Given the description of an element on the screen output the (x, y) to click on. 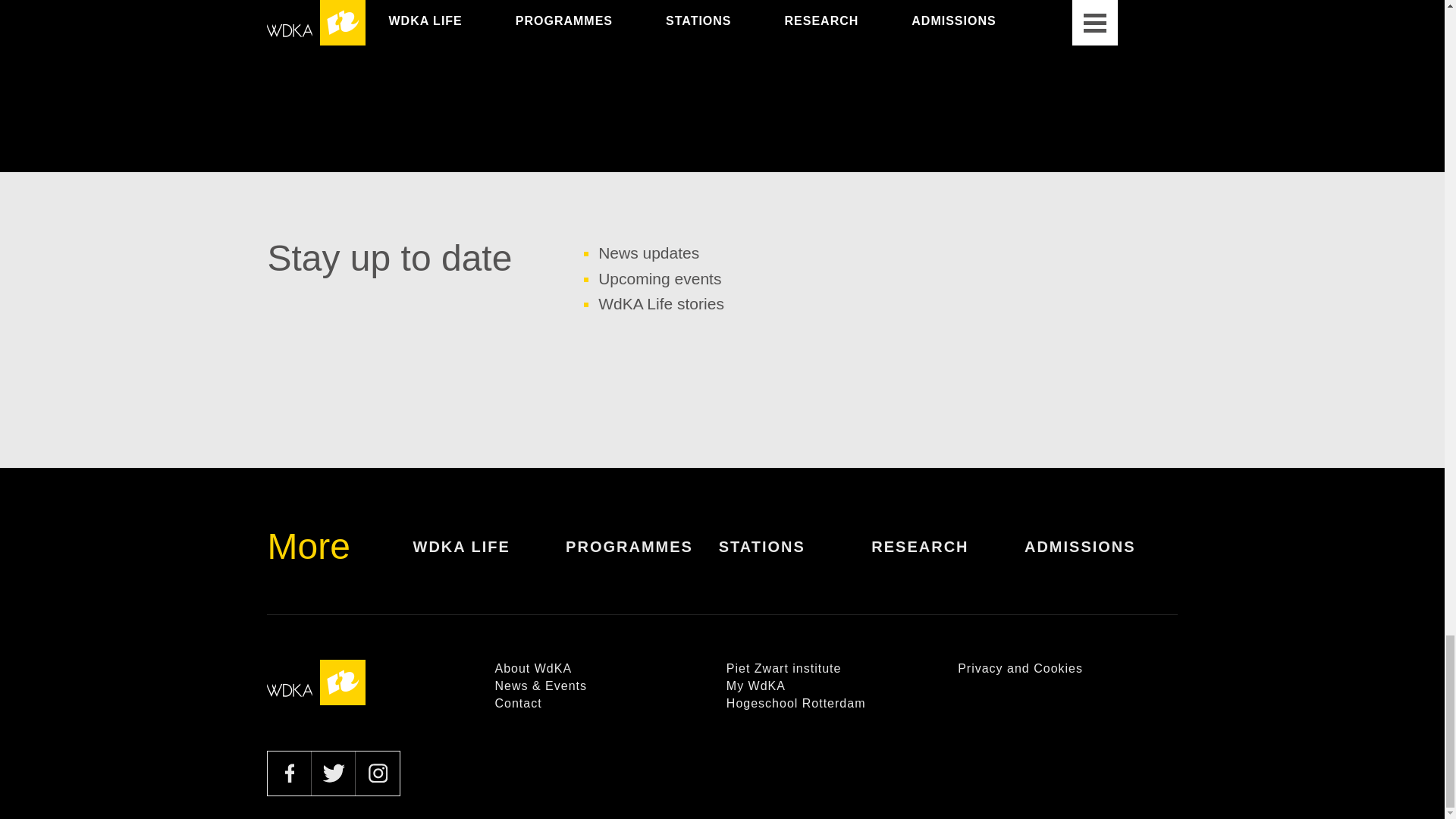
PROGRAMMES (642, 558)
Admissions (1101, 558)
STATIONS (795, 558)
WDKA LIFE (489, 558)
Research (947, 558)
Stations (795, 558)
Willem de Kooning Academie Homepage (315, 682)
WdKA Life (489, 558)
SEE ALL STUDENT WORK (722, 24)
Programmes (642, 558)
